Given the description of an element on the screen output the (x, y) to click on. 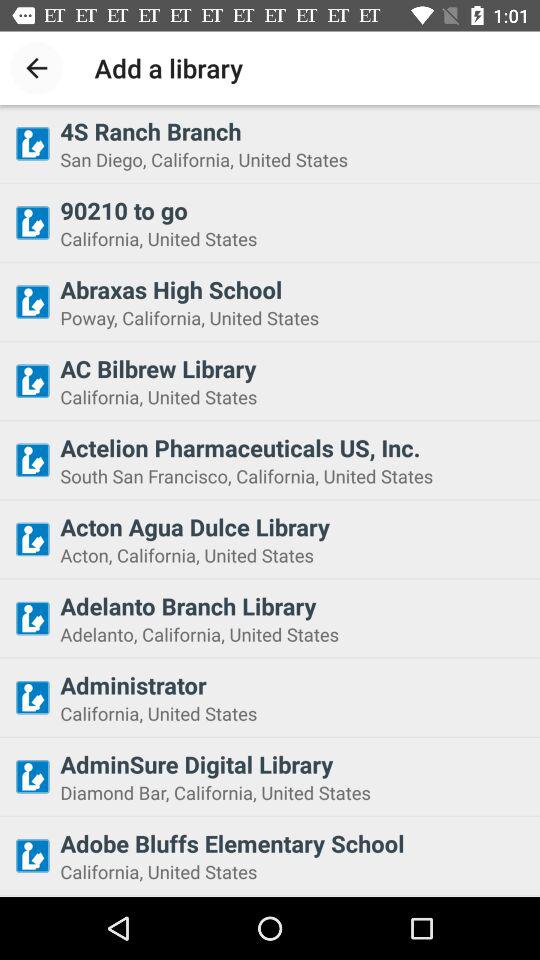
click item above california, united states (294, 210)
